Given the description of an element on the screen output the (x, y) to click on. 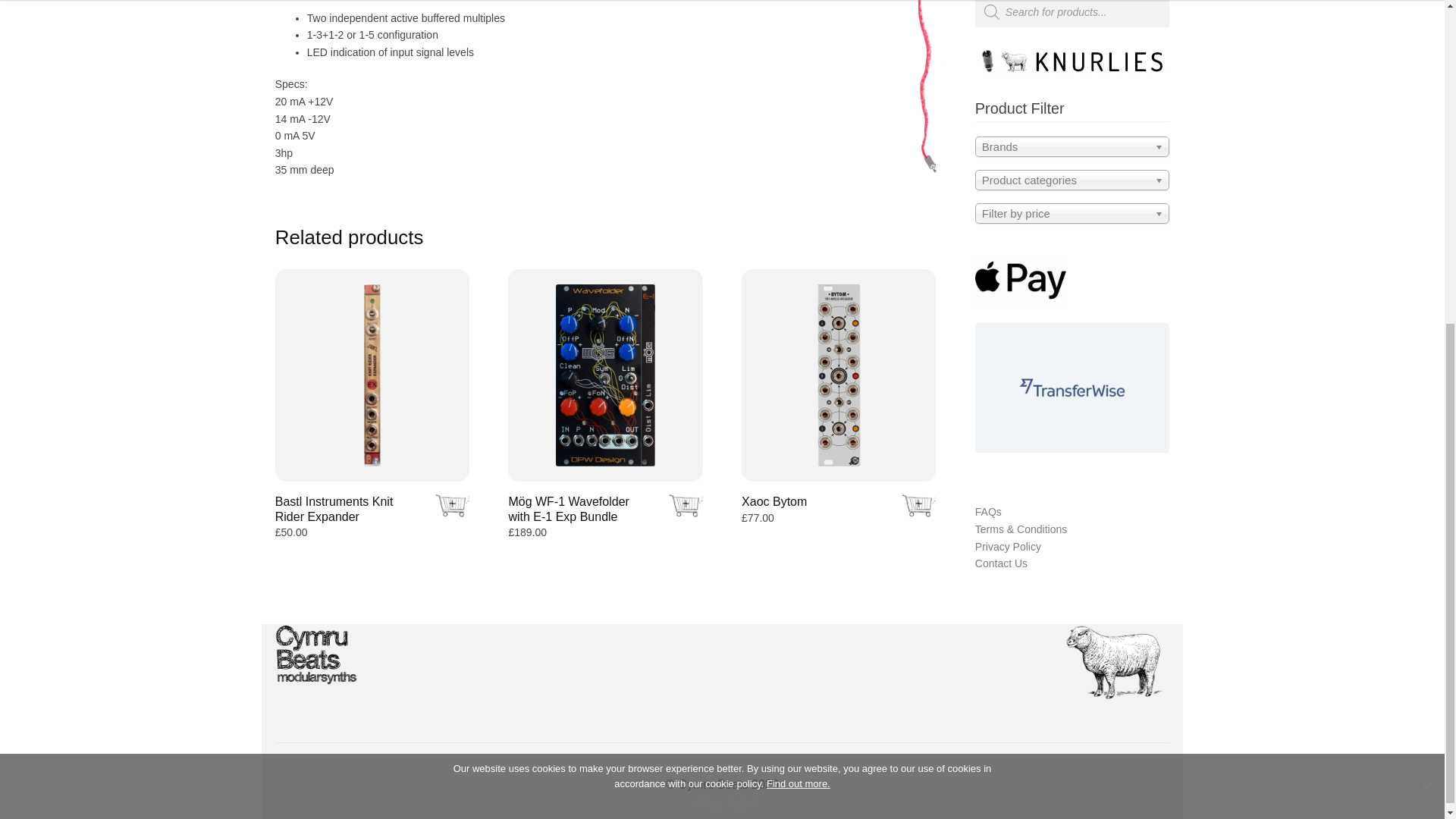
Add to basket (449, 505)
Add to basket (684, 505)
Add to basket (917, 505)
Reject (1425, 251)
